Given the description of an element on the screen output the (x, y) to click on. 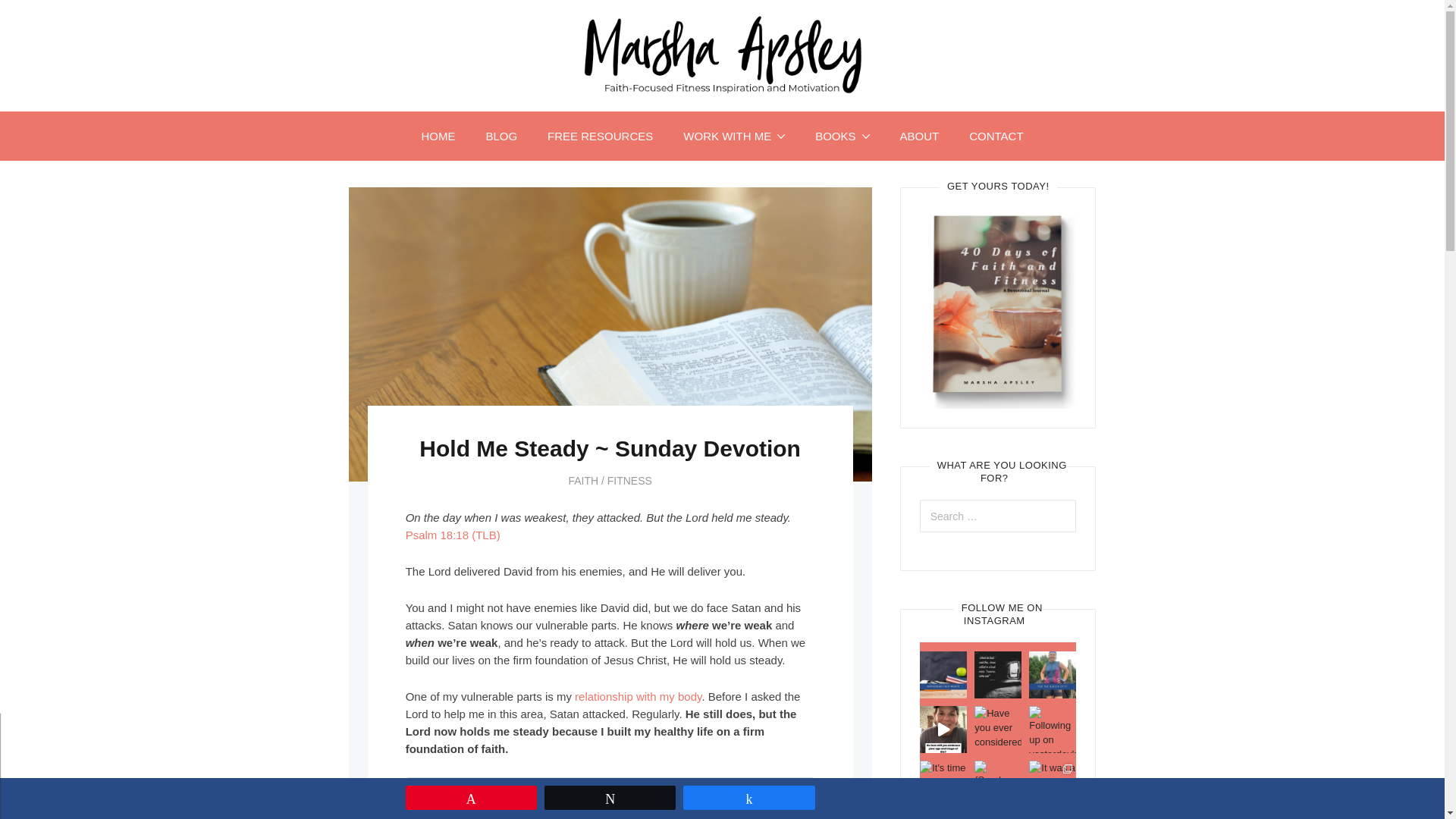
FREE RESOURCES (600, 135)
ABOUT (918, 135)
FAITH (582, 480)
FITNESS (629, 480)
CONTACT (995, 135)
WORK WITH ME (733, 135)
relationship with my body (638, 696)
BLOG (501, 135)
BOOKS (841, 135)
HOME (438, 135)
